Given the description of an element on the screen output the (x, y) to click on. 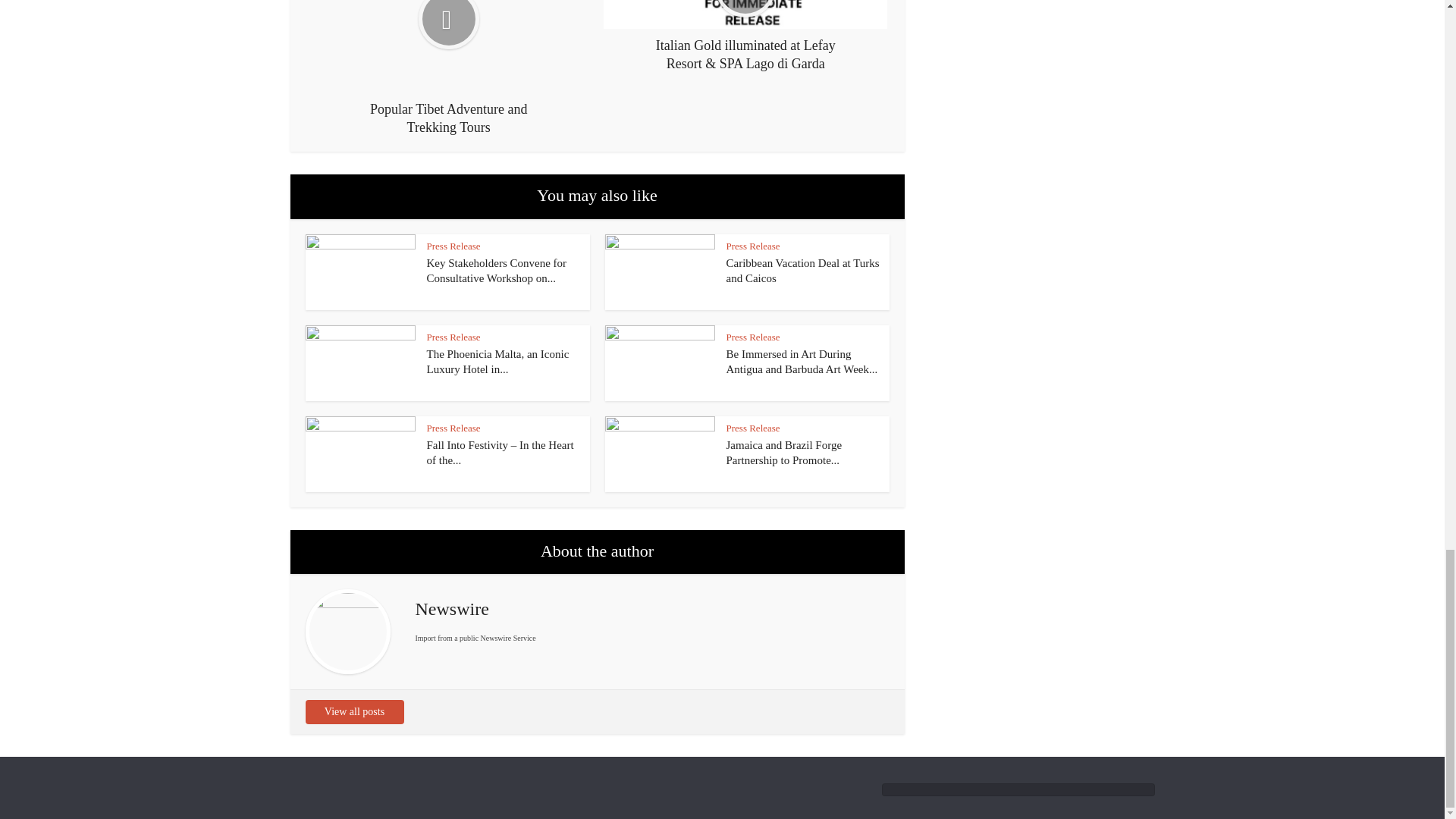
Caribbean Vacation Deal at Turks and Caicos (802, 270)
Popular Tibet Adventure and Trekking Tours (449, 68)
Be Immersed in Art During Antigua and Barbuda Art Week 2024 (801, 361)
Key Stakeholders Convene for Consultative Workshop on... (496, 270)
Press Release (453, 245)
Press Release (753, 245)
